Given the description of an element on the screen output the (x, y) to click on. 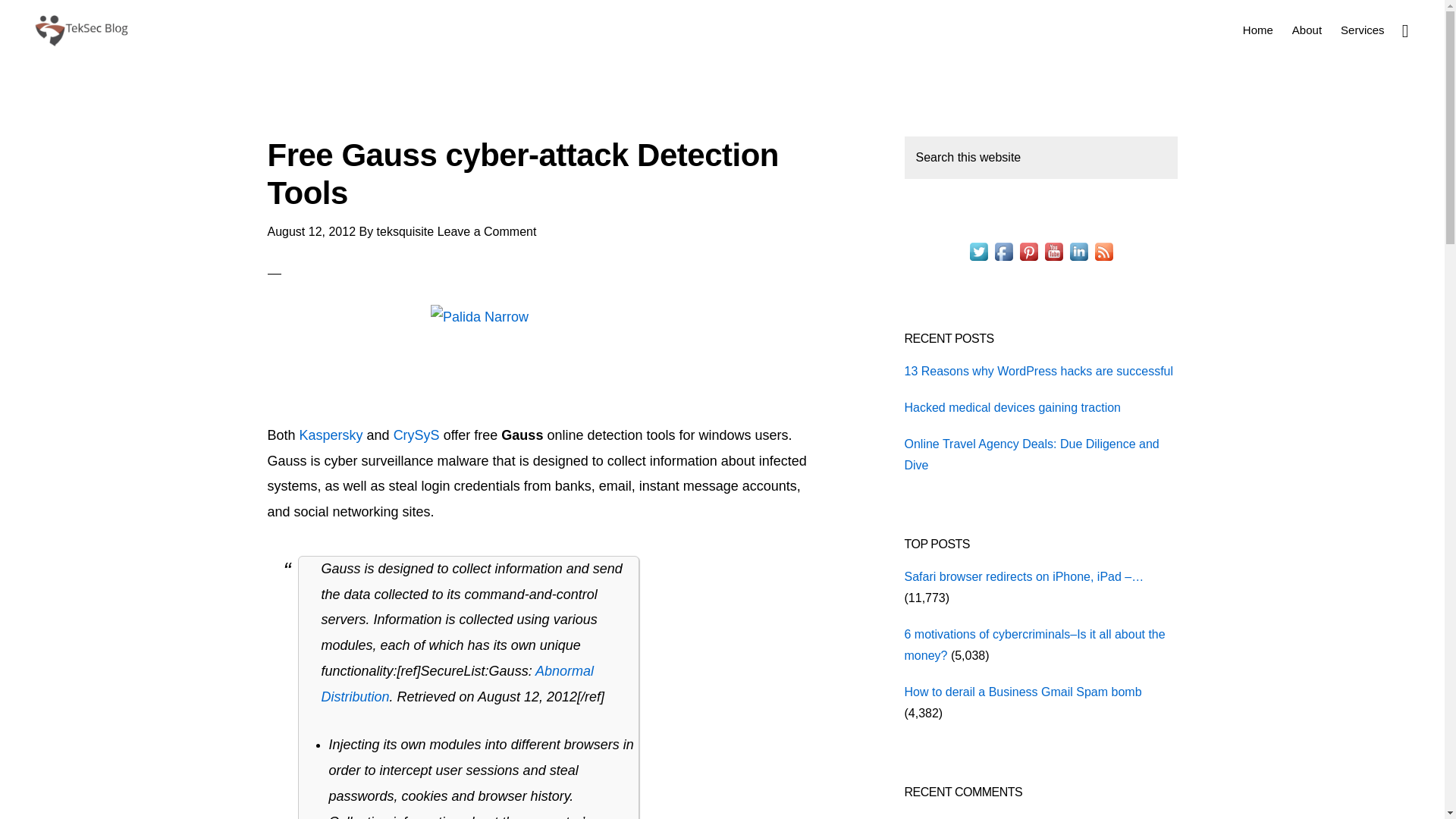
Home (1257, 29)
About (1306, 29)
Kaspersky (330, 435)
Services (1362, 29)
Gauss (457, 683)
Leave a Comment (487, 231)
Palida Narrow (539, 354)
Kaspersky (330, 435)
TEKSEC (80, 30)
CrySyS (416, 435)
Abnormal Distribution (457, 683)
teksquisite (405, 231)
Crysys (416, 435)
